Given the description of an element on the screen output the (x, y) to click on. 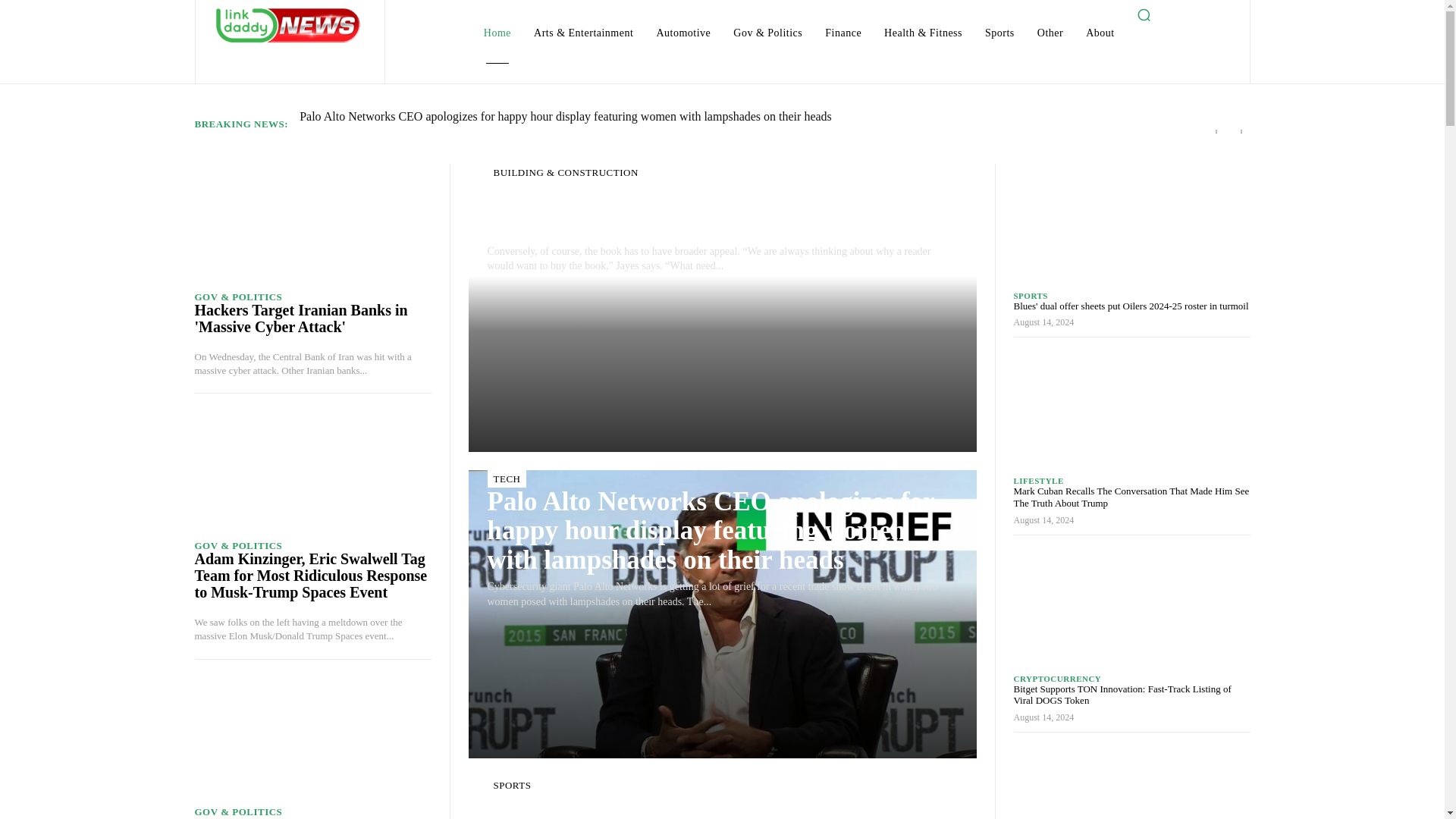
Hackers Target Iranian Banks in 'Massive Cyber Attack' (300, 318)
Hackers Target Iranian Banks in 'Massive Cyber Attack' (311, 222)
LinkDaddy News (287, 24)
Automotive (682, 33)
